Given the description of an element on the screen output the (x, y) to click on. 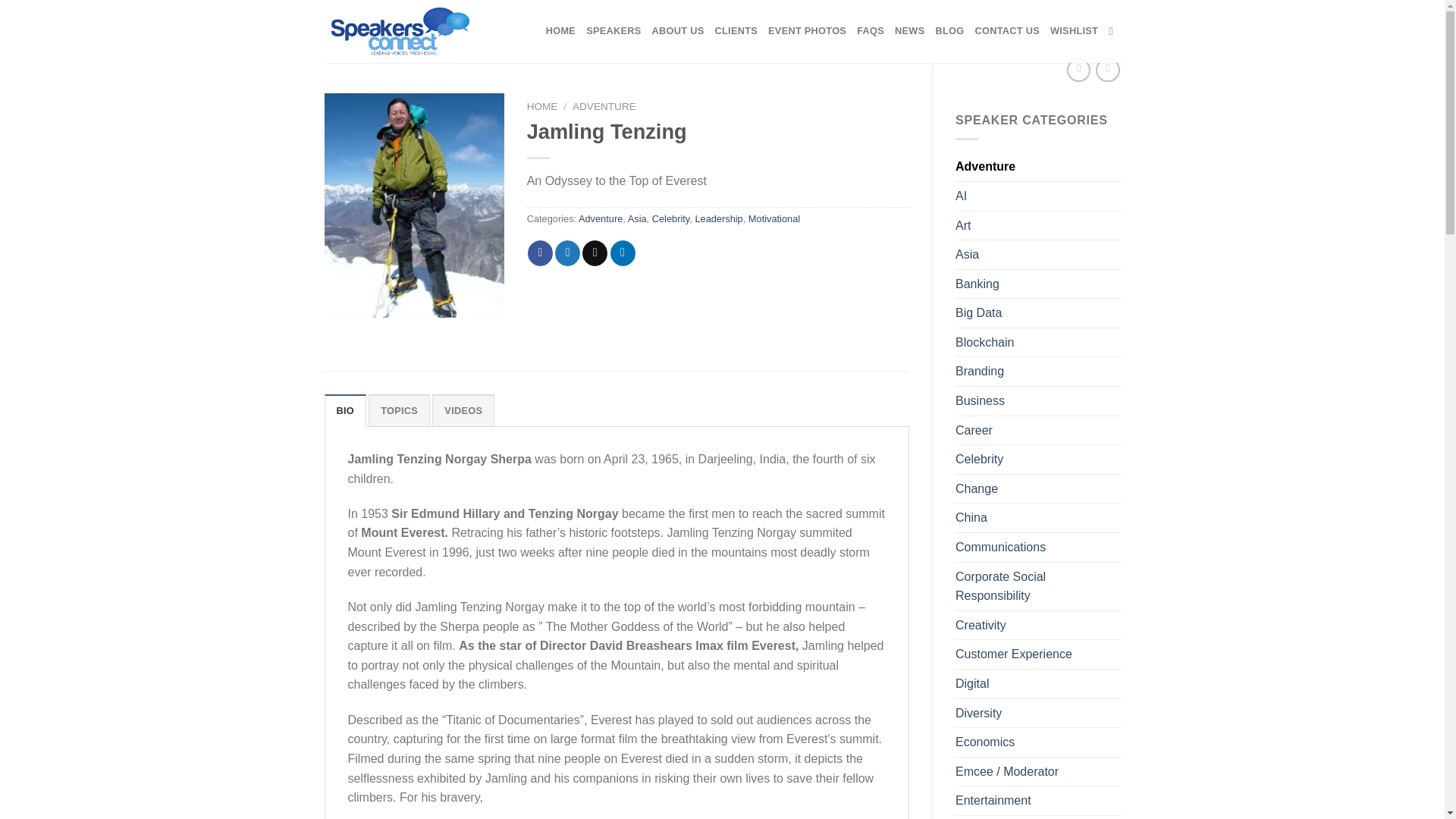
BLOG (948, 31)
Communications (1038, 547)
Creativity (1038, 624)
Career (1038, 430)
WISHLIST (1073, 31)
Banking (1038, 284)
Diversity (1038, 713)
CLIENTS (735, 31)
HOME (560, 31)
Blockchain (1038, 342)
CONTACT US (1006, 31)
NEWS (909, 31)
Big Data (1038, 312)
EVENT PHOTOS (806, 31)
China (1038, 517)
